Given the description of an element on the screen output the (x, y) to click on. 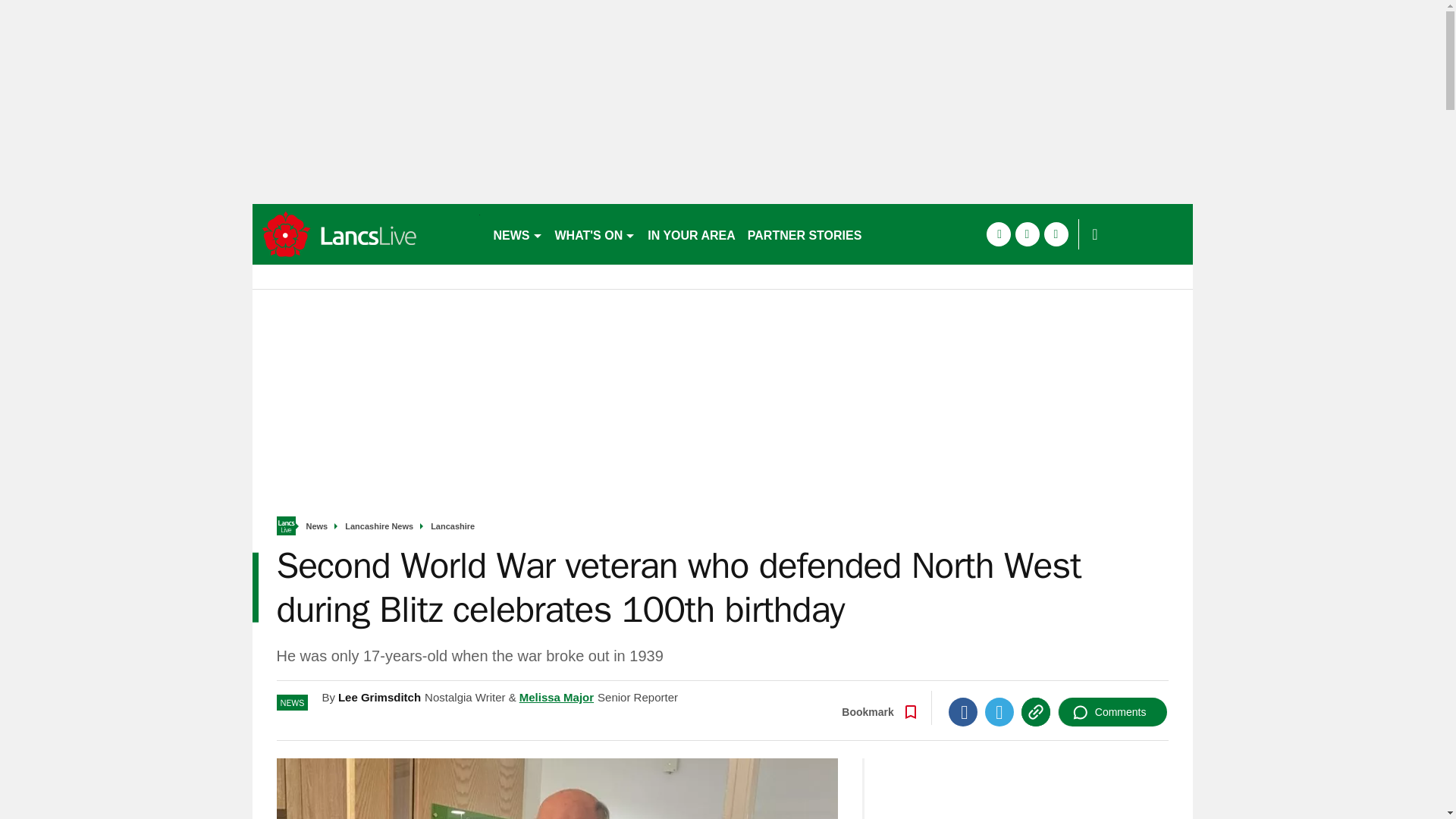
WHAT'S ON (595, 233)
instagram (1055, 233)
NEWS (517, 233)
facebook (997, 233)
Facebook (962, 711)
Twitter (999, 711)
IN YOUR AREA (691, 233)
Comments (1112, 711)
twitter (1026, 233)
PARTNER STORIES (804, 233)
